Given the description of an element on the screen output the (x, y) to click on. 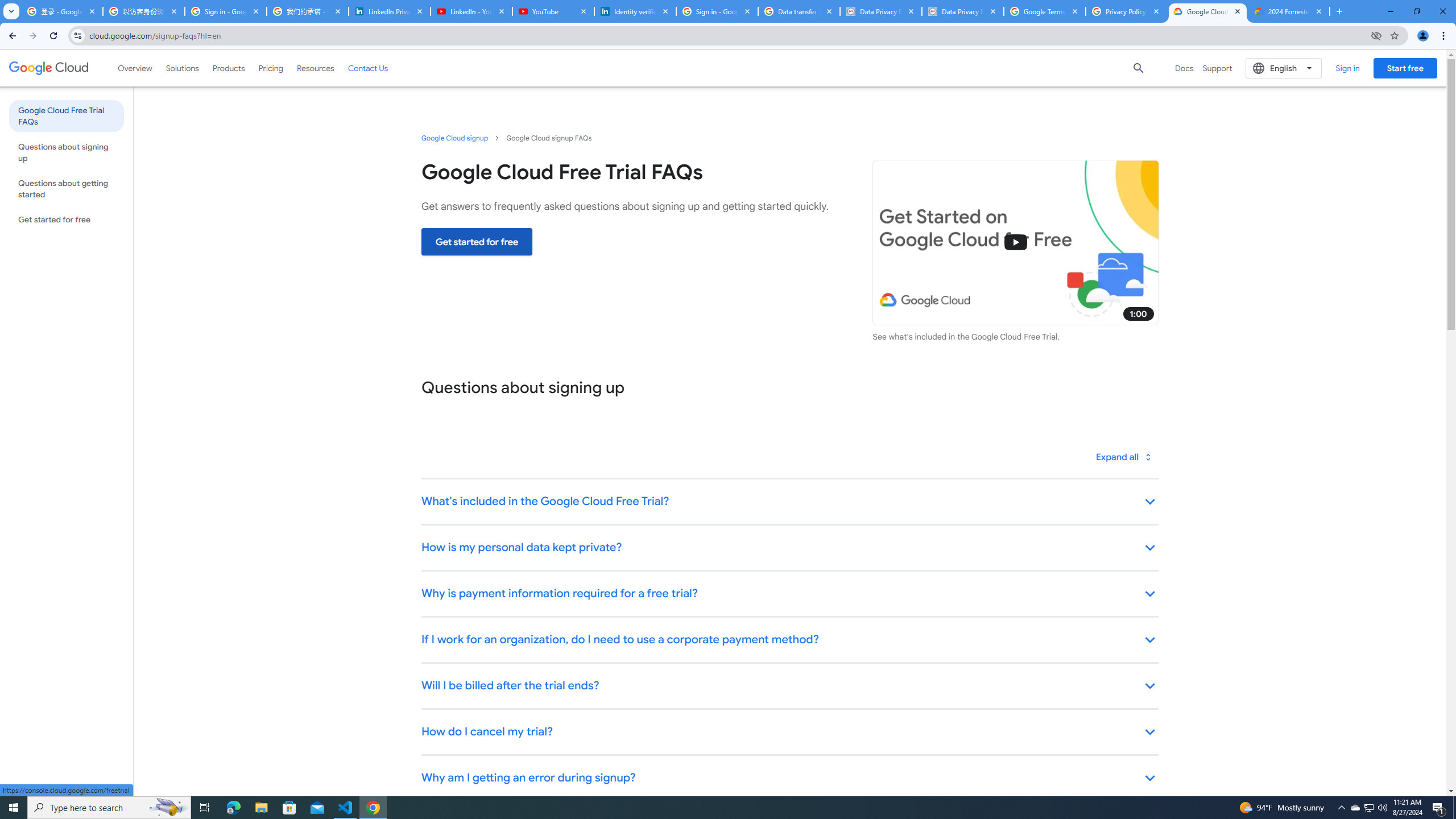
Get started for free (476, 241)
How do I cancel my trial? keyboard_arrow_down (789, 732)
LinkedIn - YouTube (470, 11)
YouTube (552, 11)
Will I be billed after the trial ends? keyboard_arrow_down (789, 686)
How is my personal data kept private? keyboard_arrow_down (789, 547)
Google Cloud Free Trial FAQs (65, 115)
